Given the description of an element on the screen output the (x, y) to click on. 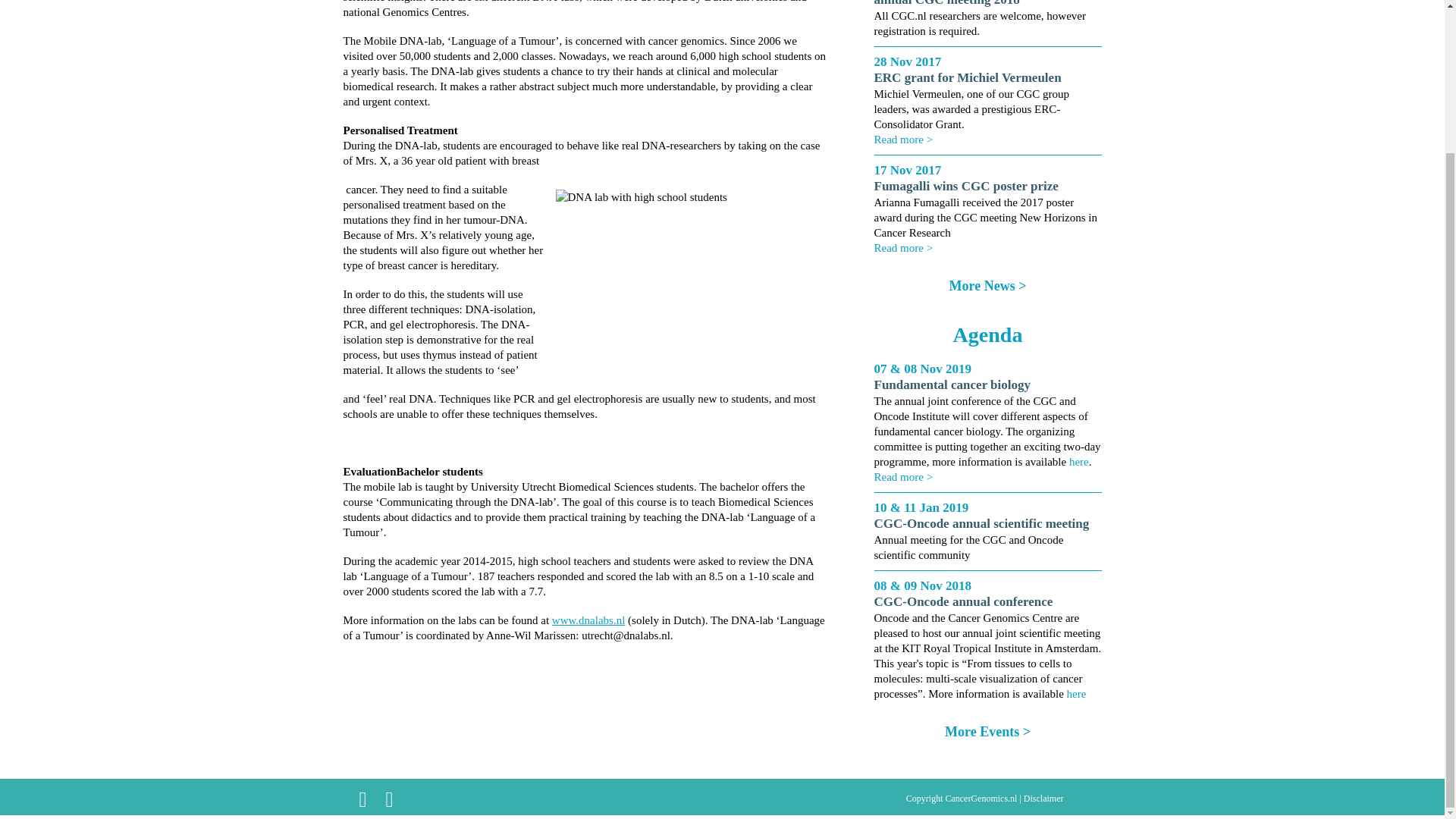
DNA lab 'Language of a Tumour' on the road (687, 277)
Disclaimer (1043, 798)
here (1076, 693)
Agenda (988, 334)
www.dnalabs.nl (588, 620)
DNA lab website (588, 620)
here (1078, 461)
